Given the description of an element on the screen output the (x, y) to click on. 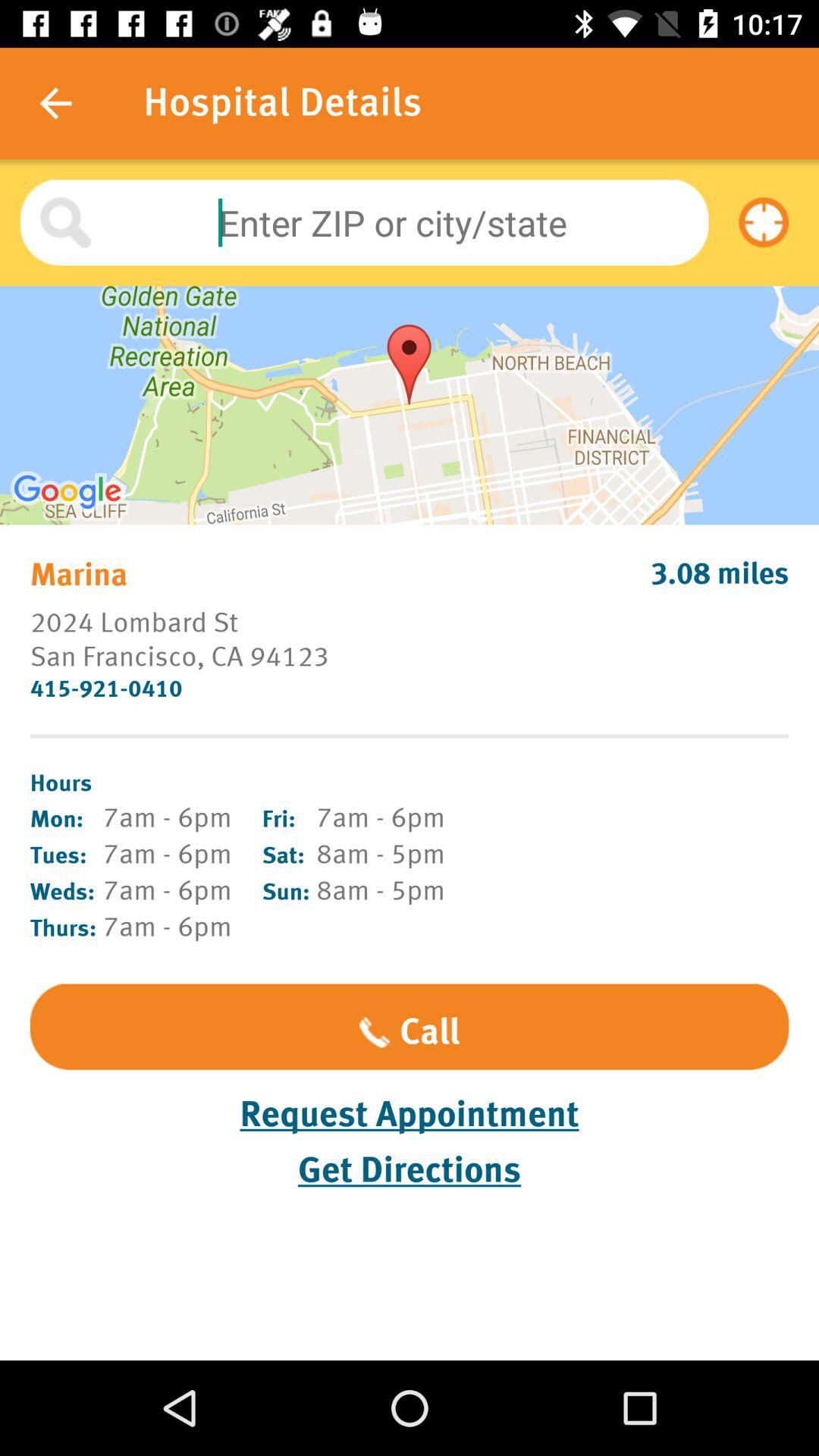
flip to 415-921-0410 (409, 688)
